Given the description of an element on the screen output the (x, y) to click on. 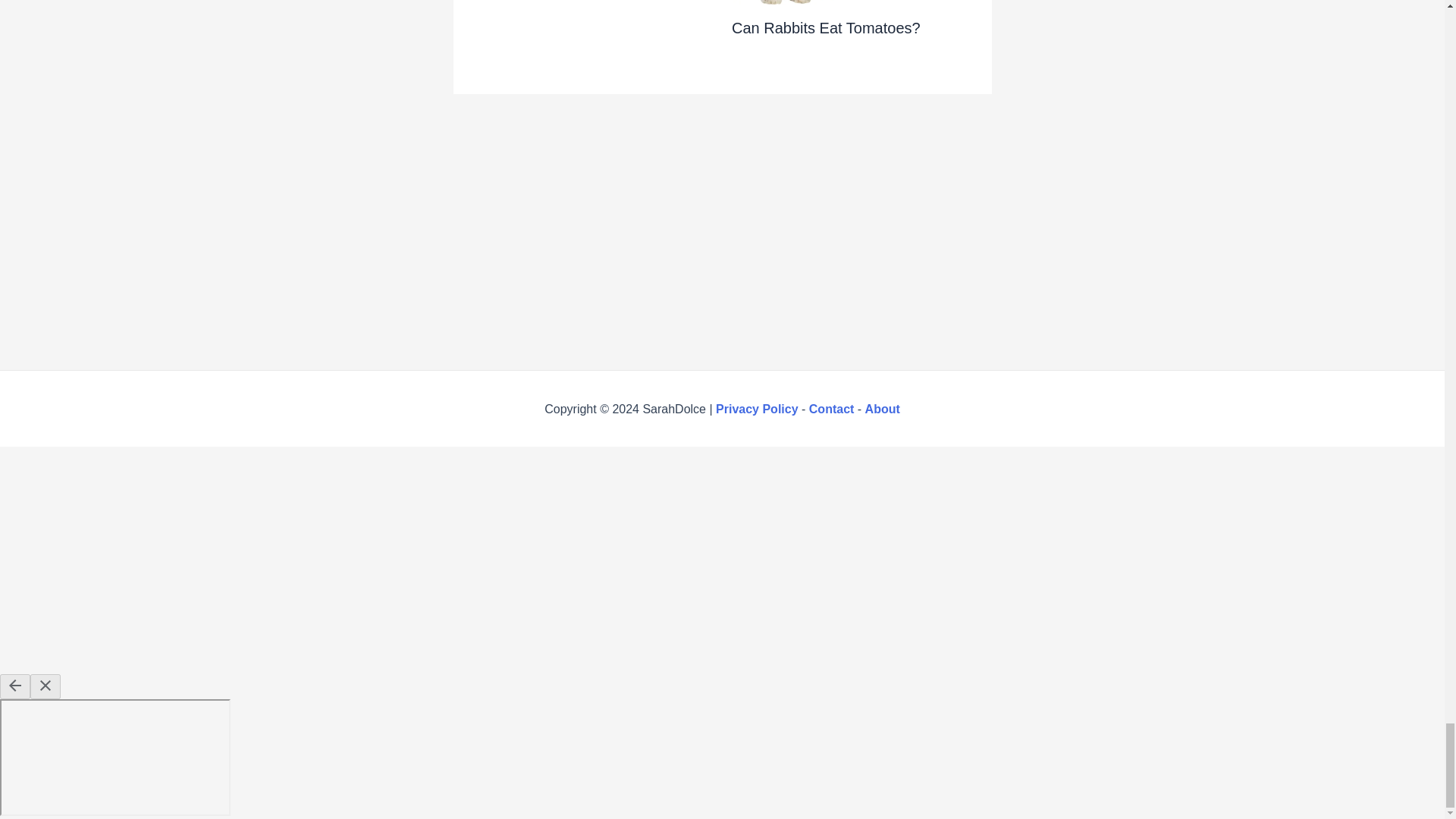
Contact (831, 408)
Can Rabbits Eat Tomatoes? (826, 27)
Privacy Policy (756, 408)
About (881, 408)
